Given the description of an element on the screen output the (x, y) to click on. 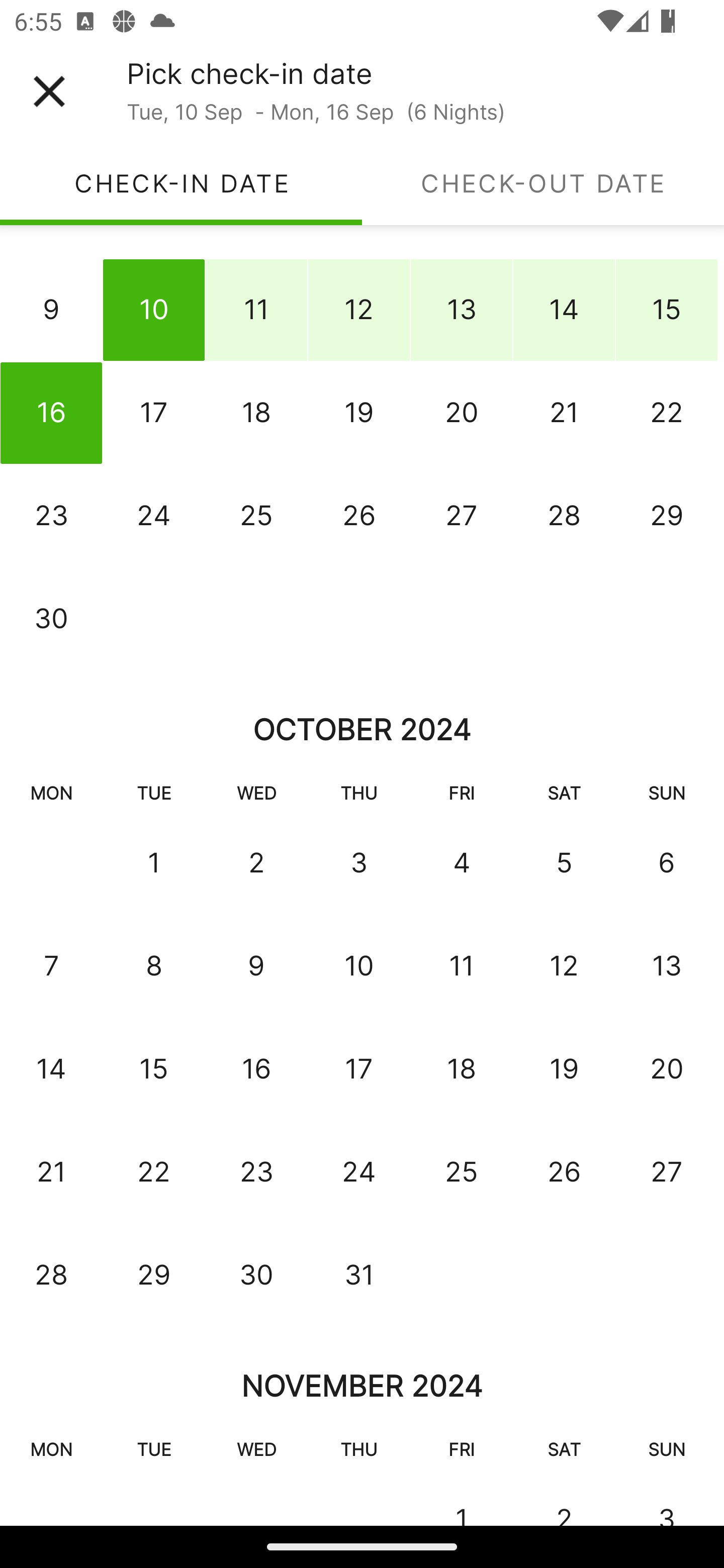
Check-out Date CHECK-OUT DATE (543, 183)
